Given the description of an element on the screen output the (x, y) to click on. 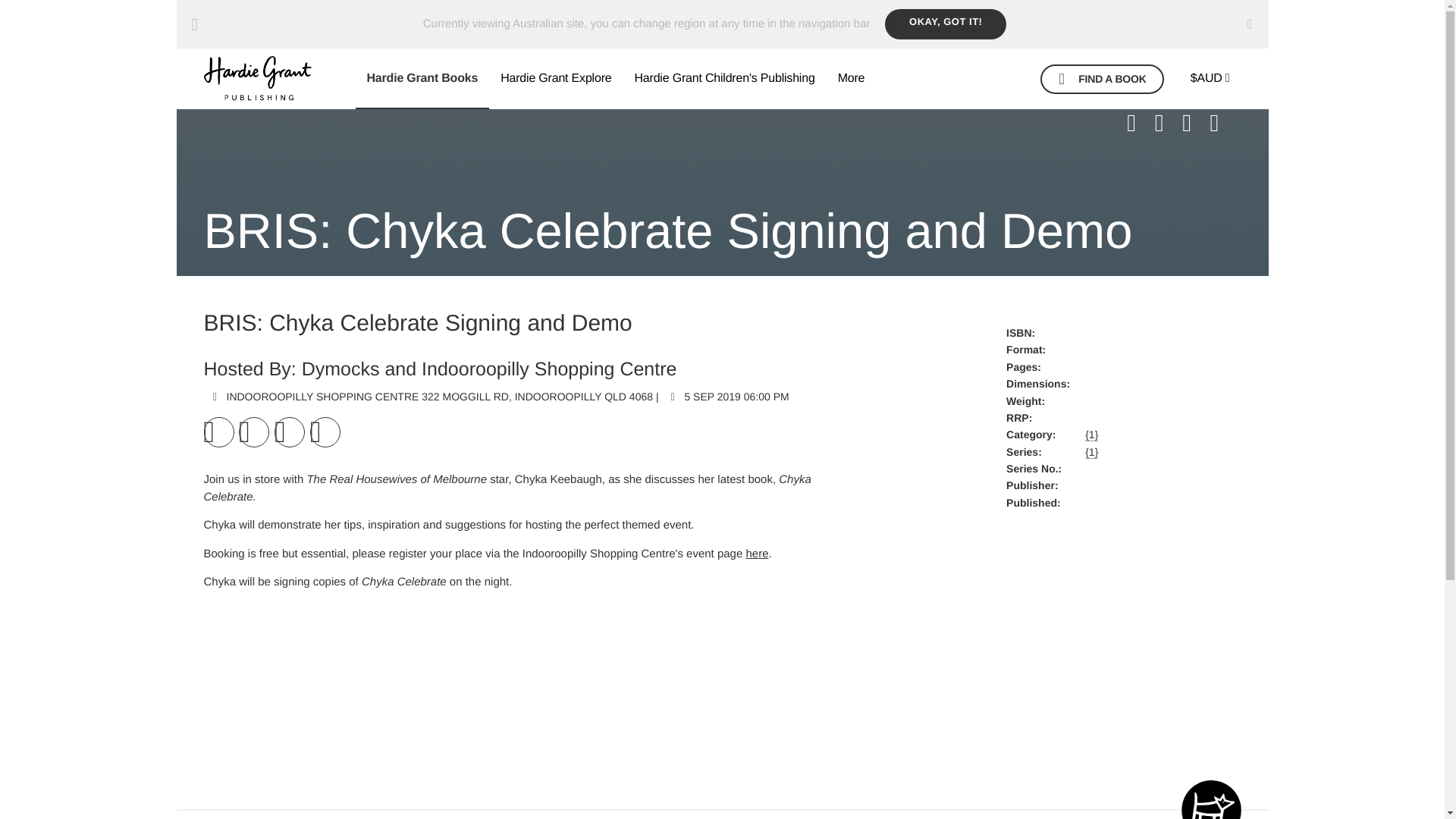
Hardie Grant Explore (556, 78)
like us (1166, 122)
follow us (1221, 122)
find a book (1102, 78)
OKAY, GOT IT! (945, 24)
Hardie Grant Children's Publishing (724, 78)
follow us on instragram (1194, 122)
subscribe to newsletter (1138, 122)
Hardie Grant Books (422, 78)
